Given the description of an element on the screen output the (x, y) to click on. 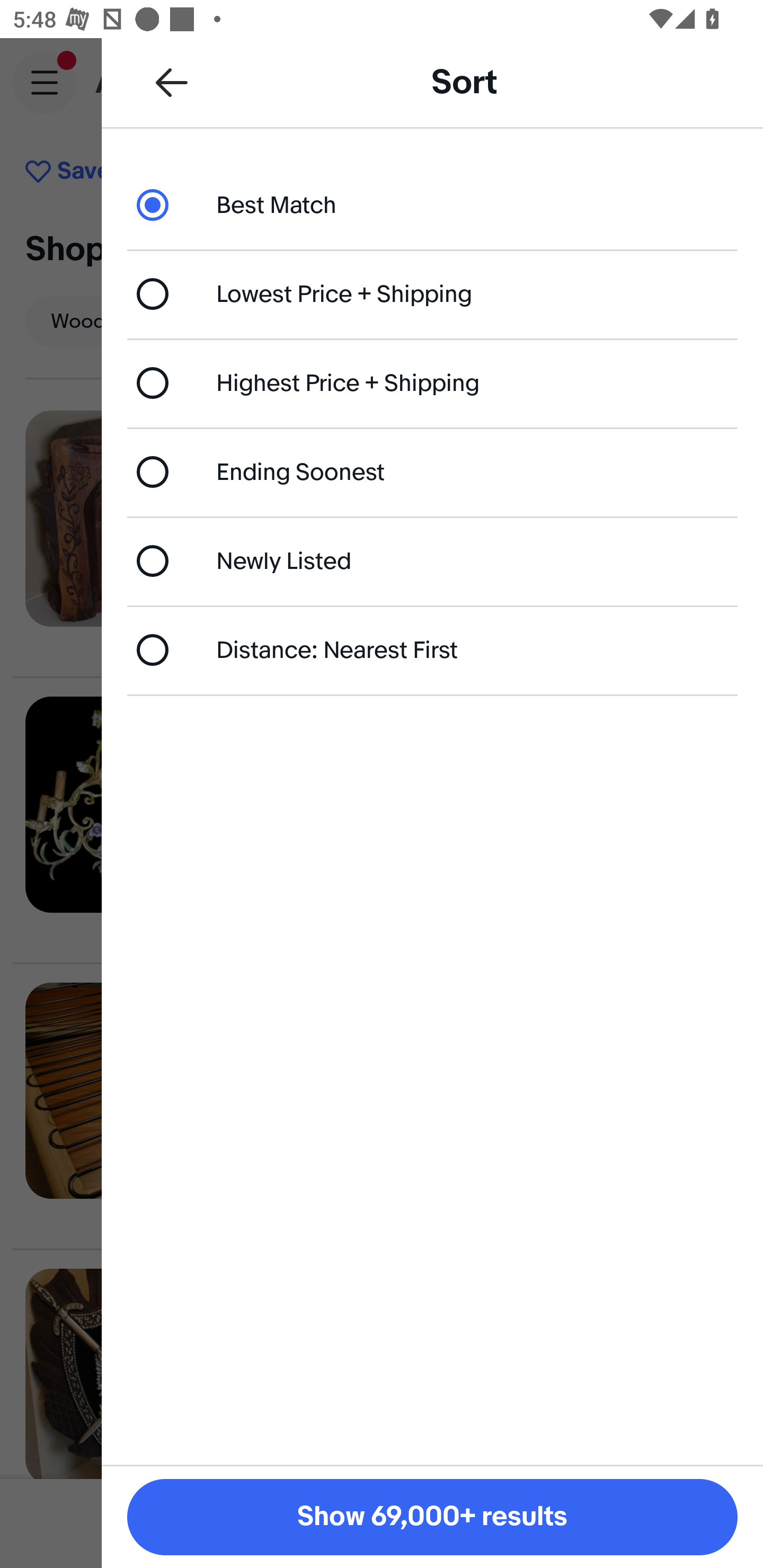
Back to all refinements (171, 81)
Best Match - currently selected Best Match (432, 204)
Lowest Price + Shipping (432, 293)
Highest Price + Shipping (432, 383)
Ending Soonest (432, 471)
Newly Listed (432, 560)
Distance: Nearest First (432, 649)
Show 69,000+ results (432, 1516)
